Given the description of an element on the screen output the (x, y) to click on. 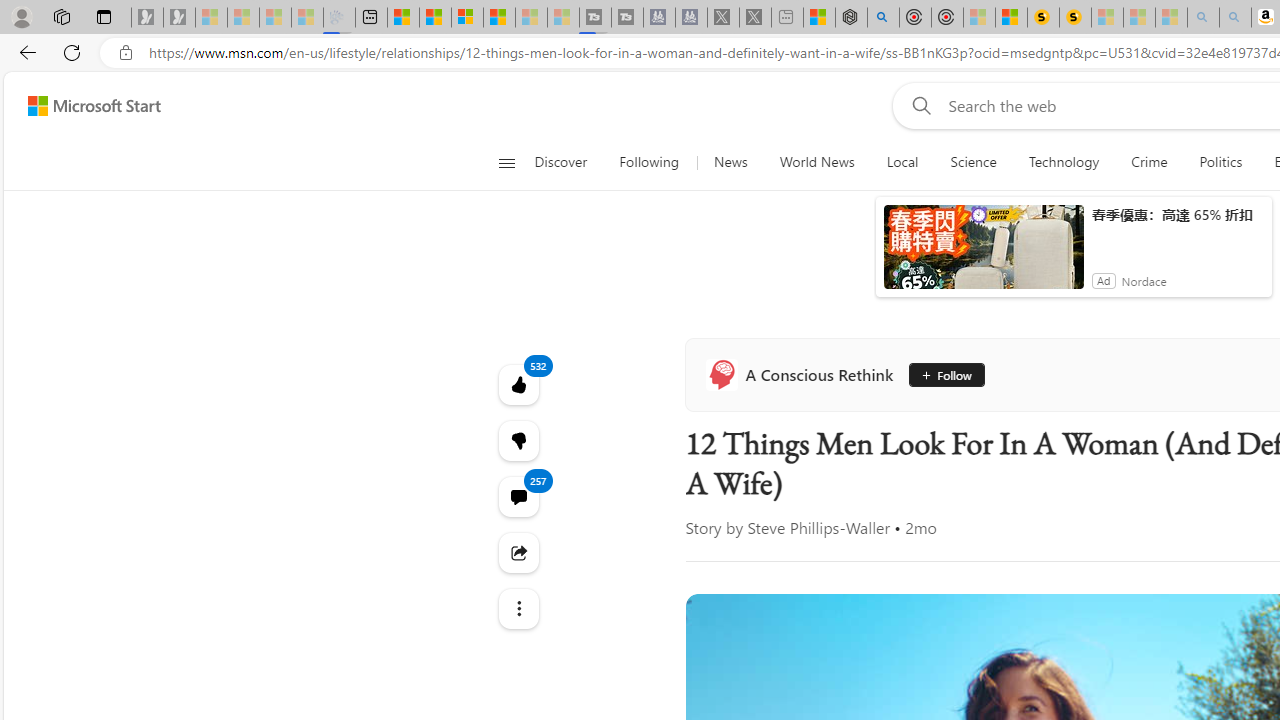
Search icon (125, 53)
Wikipedia (1017, 223)
62 Like (1149, 574)
Sports (761, 265)
View comments 9 Comment (1241, 574)
X - Sleeping (746, 17)
News (701, 267)
Weather (1019, 267)
Watch (1089, 265)
View comments 8 Comment (1241, 574)
New tab - Sleeping (777, 17)
Watch (1089, 267)
Gaming (945, 267)
